Given the description of an element on the screen output the (x, y) to click on. 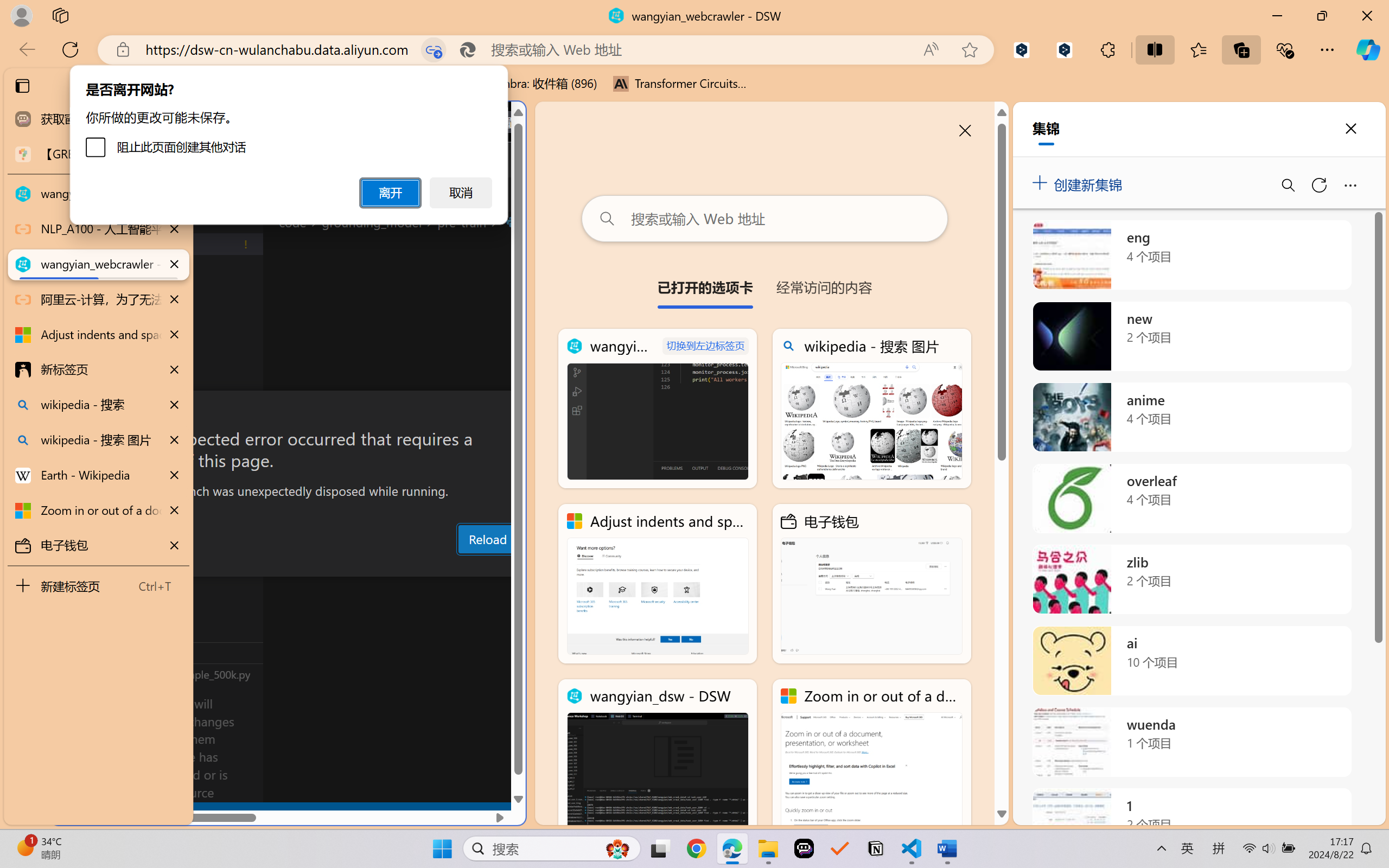
Manage (73, 755)
Transformer Circuits Thread (680, 83)
Reload (486, 538)
Terminal (Ctrl+`) (553, 565)
Close Dialog (520, 410)
wangyian_dsw - DSW (657, 758)
